Given the description of an element on the screen output the (x, y) to click on. 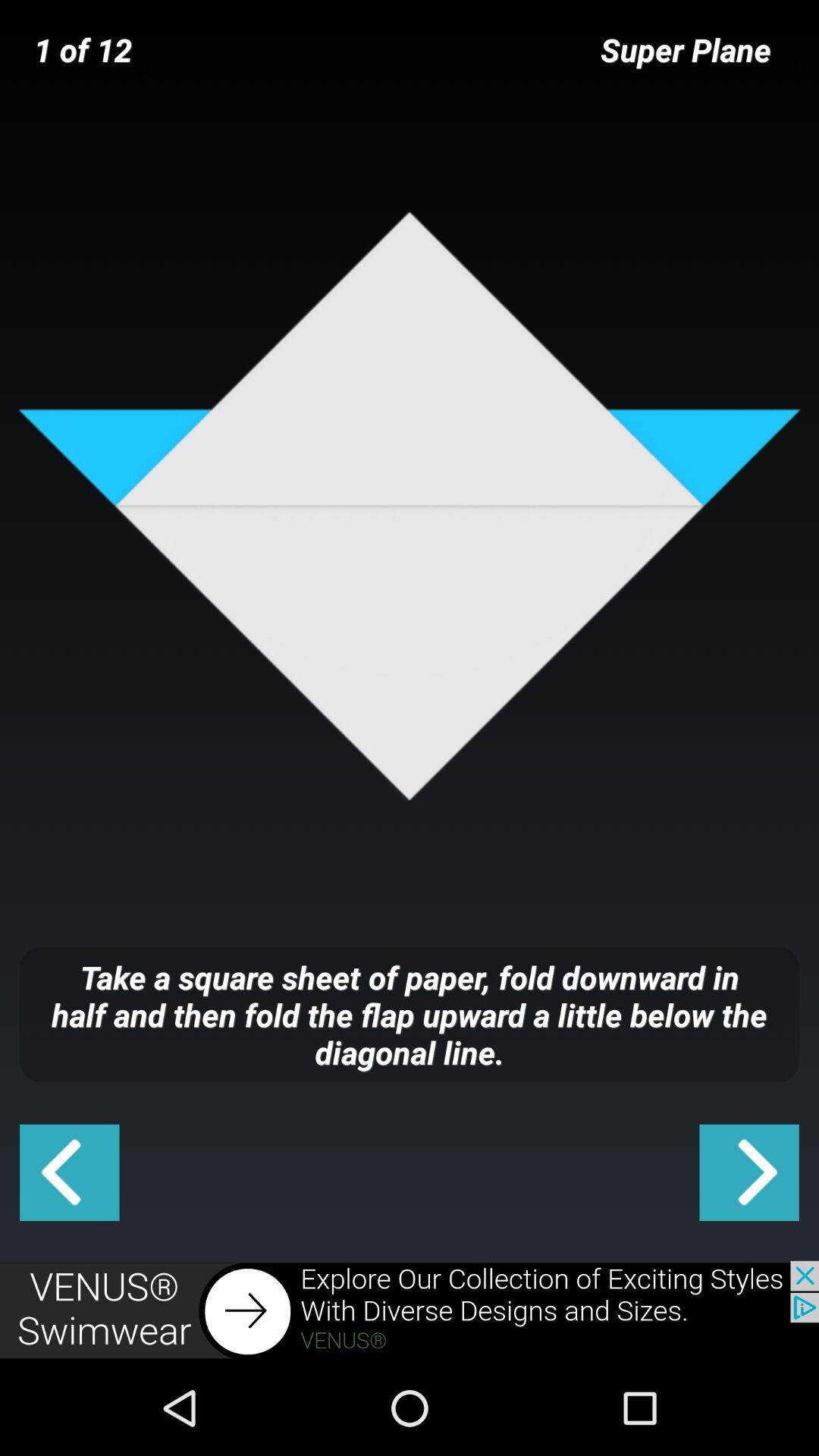
go to next (749, 1172)
